Given the description of an element on the screen output the (x, y) to click on. 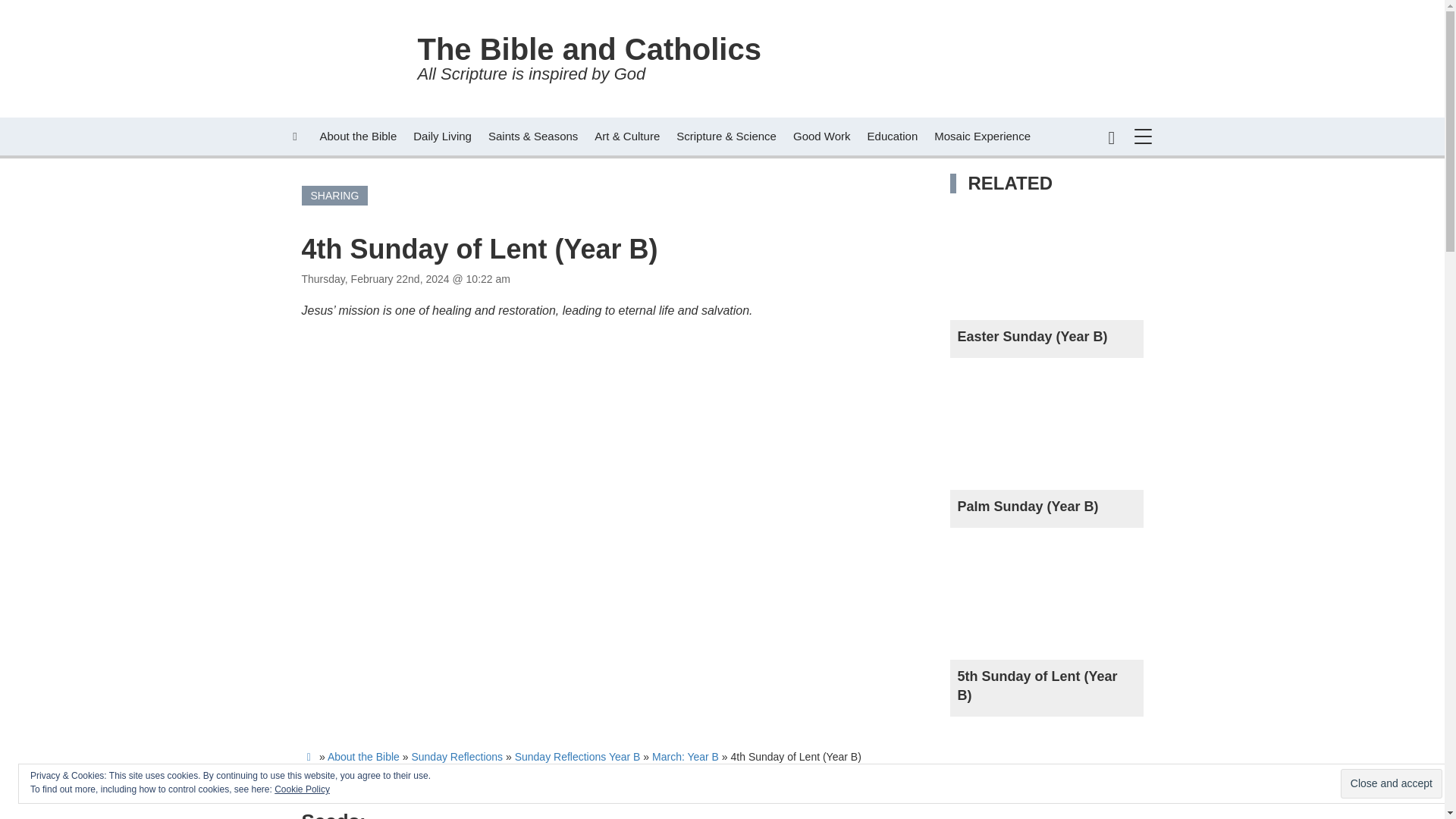
Daily Living (442, 136)
About the Bible (638, 58)
Close and accept (357, 136)
